Given the description of an element on the screen output the (x, y) to click on. 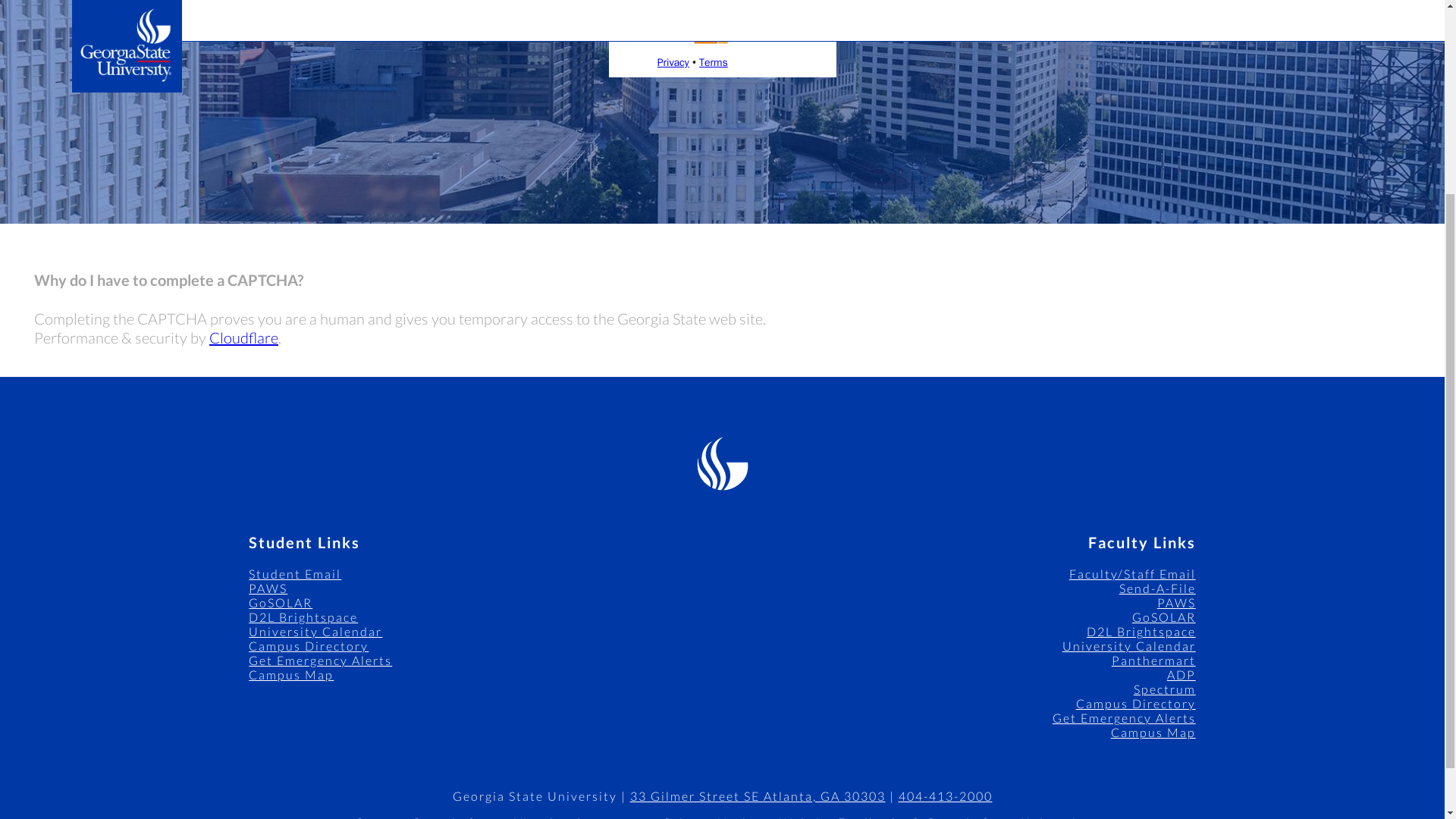
Cloudflare (243, 337)
Campus Directory (1135, 703)
Campus Directory (308, 645)
Student Email (294, 573)
University Calendar (314, 631)
Get Emergency Alerts (319, 659)
University Calendar (1128, 645)
Panthermart (1153, 659)
Campus Map (290, 674)
GoSOLAR (1163, 616)
